Given the description of an element on the screen output the (x, y) to click on. 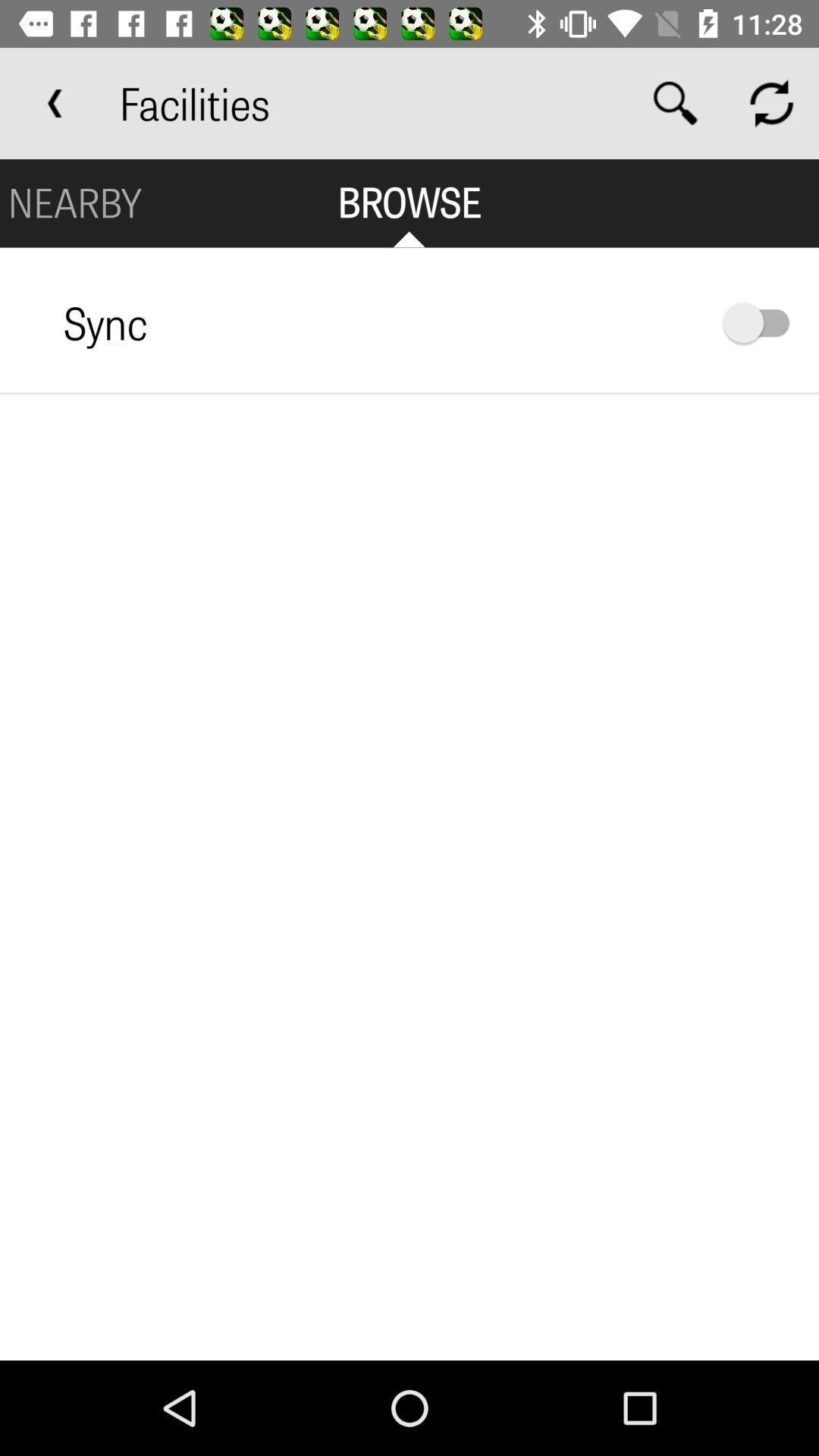
toggle sync (763, 322)
